Given the description of an element on the screen output the (x, y) to click on. 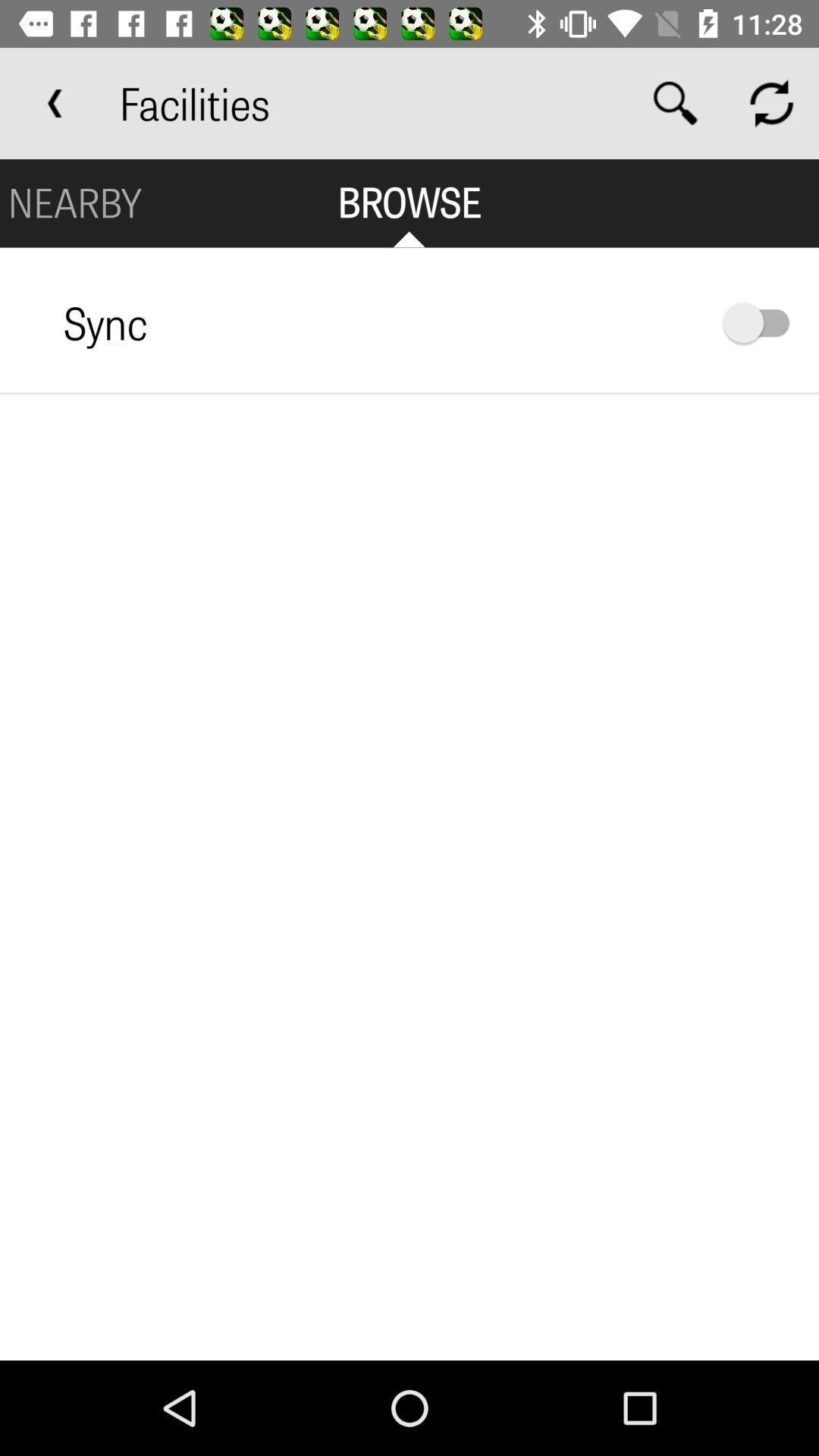
toggle sync (763, 322)
